Given the description of an element on the screen output the (x, y) to click on. 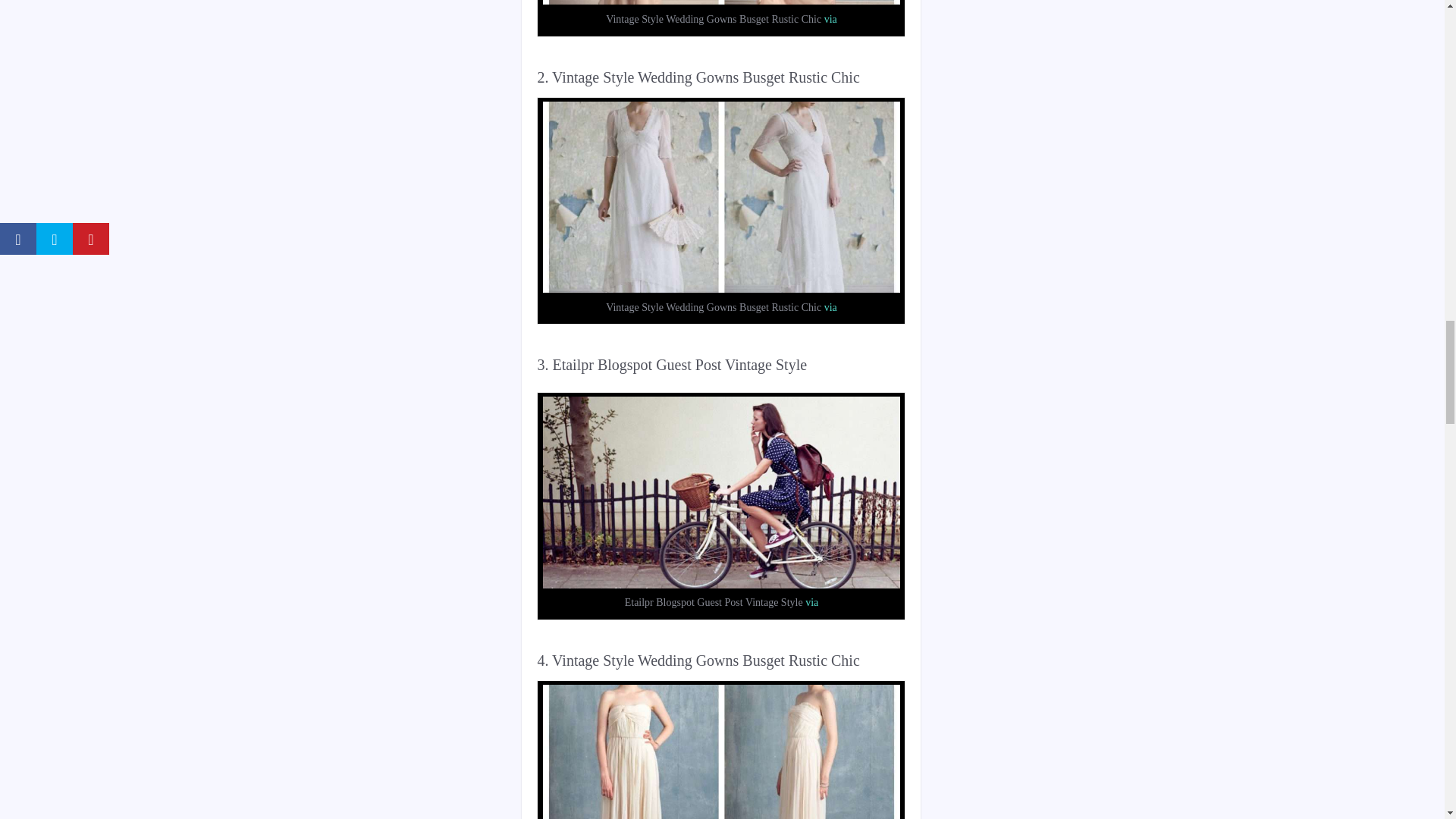
via (830, 307)
via (811, 602)
via (830, 19)
